Given the description of an element on the screen output the (x, y) to click on. 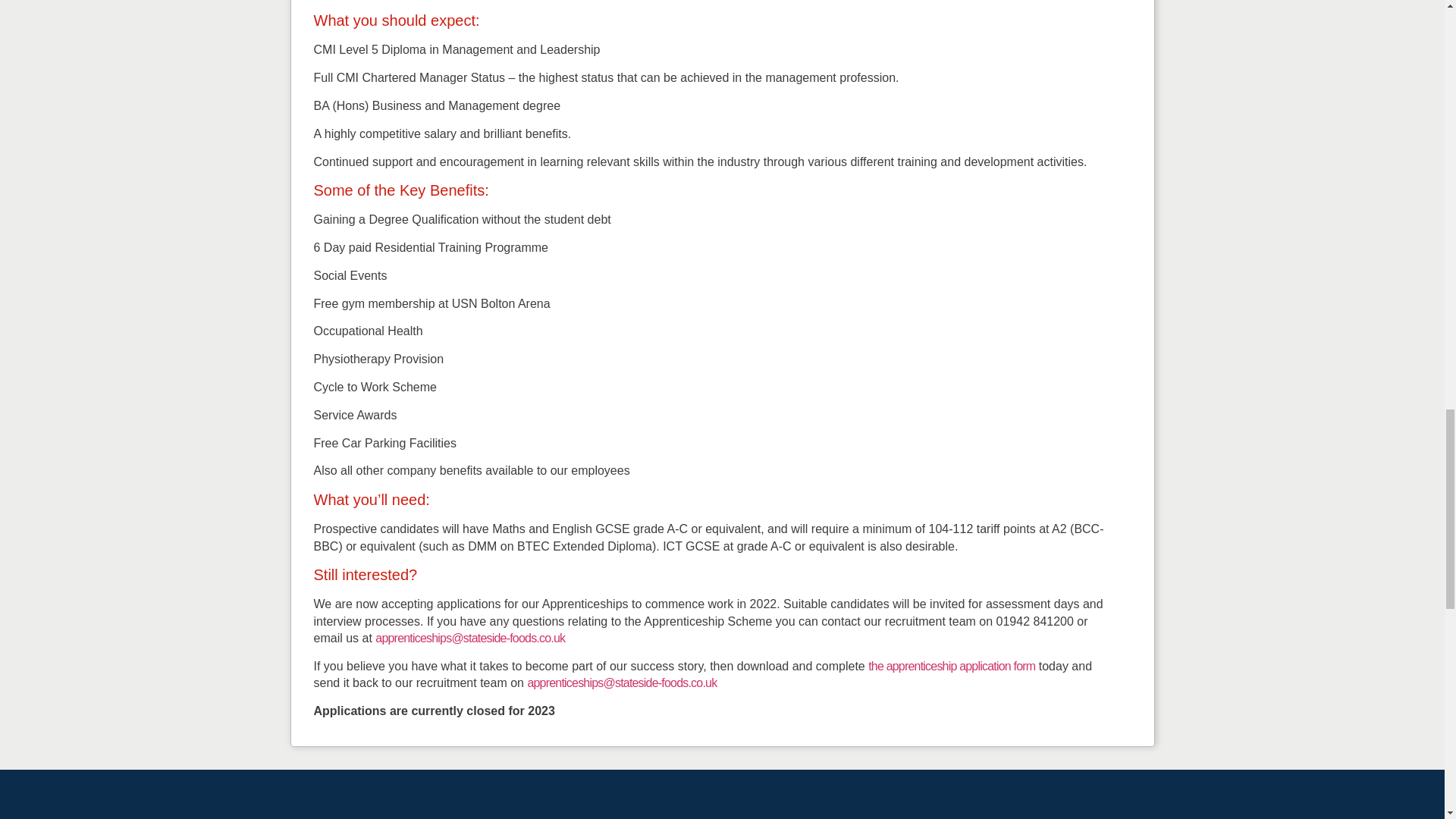
Apprenticeship Application Form (951, 666)
